Given the description of an element on the screen output the (x, y) to click on. 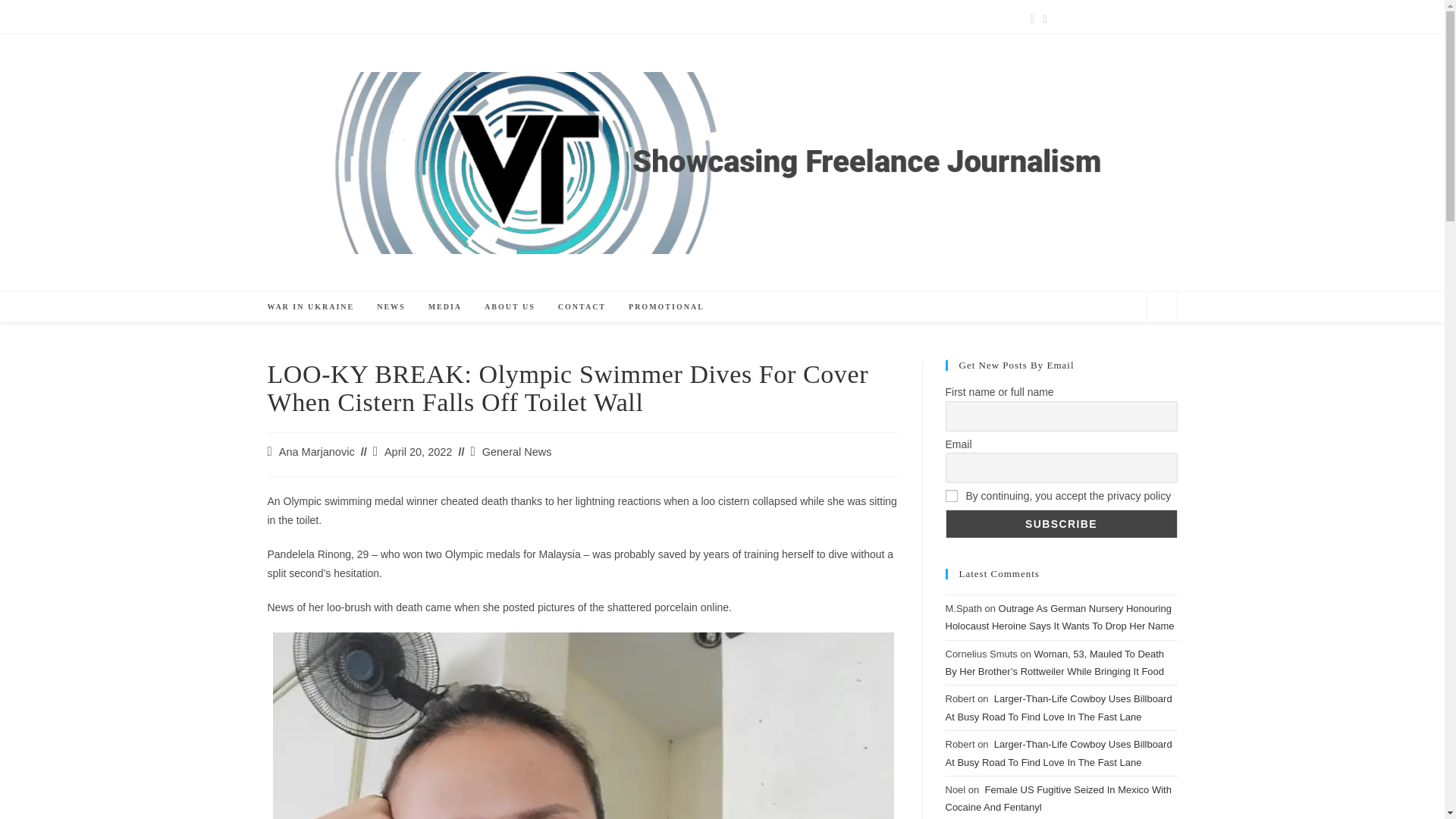
WAR IN UKRAINE (311, 306)
Posts by Ana Marjanovic (317, 451)
PROMOTIONAL (666, 306)
Subscribe (1060, 523)
Ana Marjanovic (317, 451)
NEWS (390, 306)
ABOUT US (510, 306)
MEDIA (444, 306)
ALL CATEGORIES (326, 18)
CONTACT (582, 306)
on (950, 495)
